Given the description of an element on the screen output the (x, y) to click on. 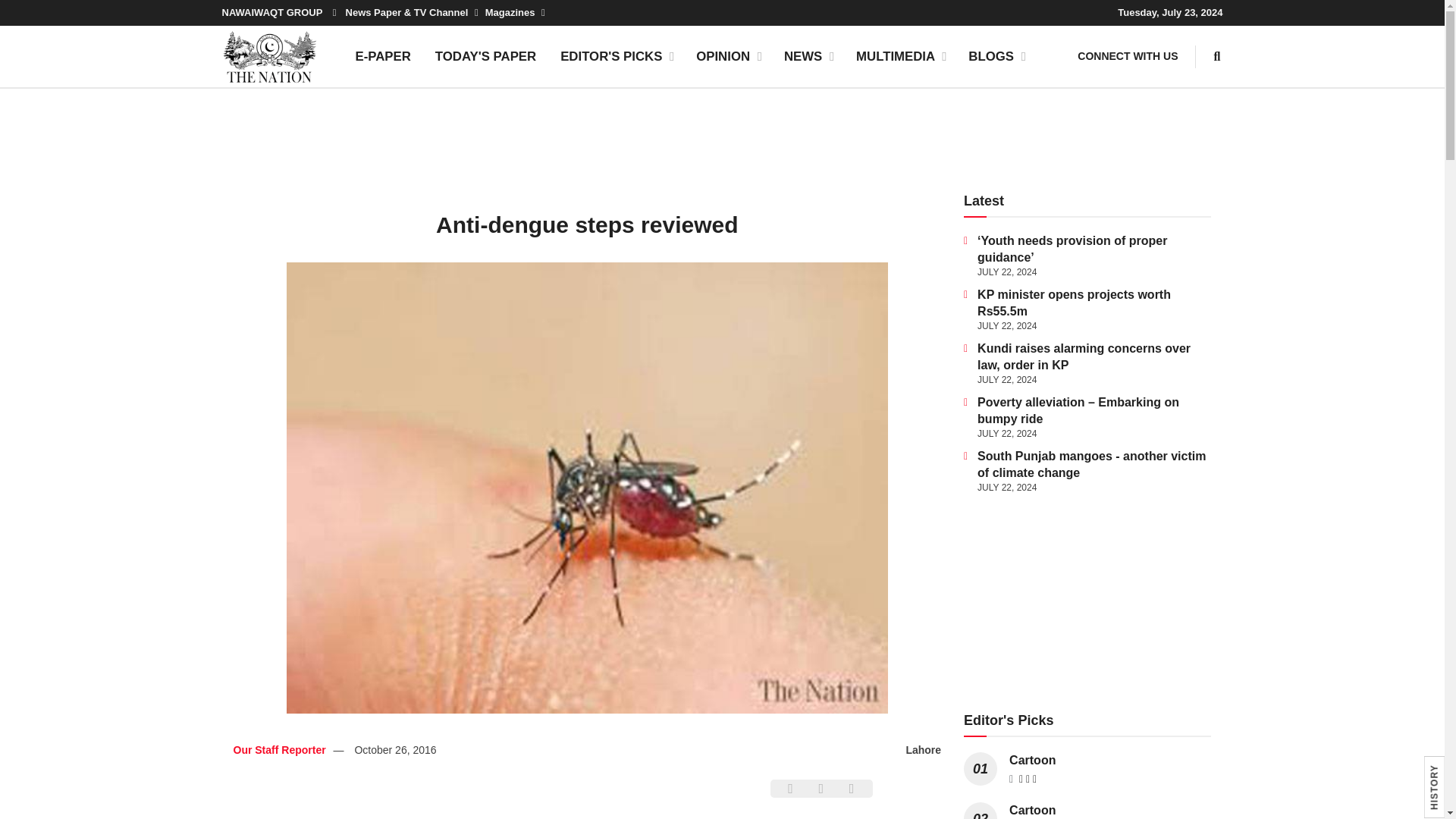
TODAY'S PAPER (485, 55)
Magazines (513, 12)
MULTIMEDIA (900, 55)
OPINION (727, 55)
E-PAPER (382, 55)
BLOGS (995, 55)
NEWS (807, 55)
EDITOR'S PICKS (616, 55)
